Given the description of an element on the screen output the (x, y) to click on. 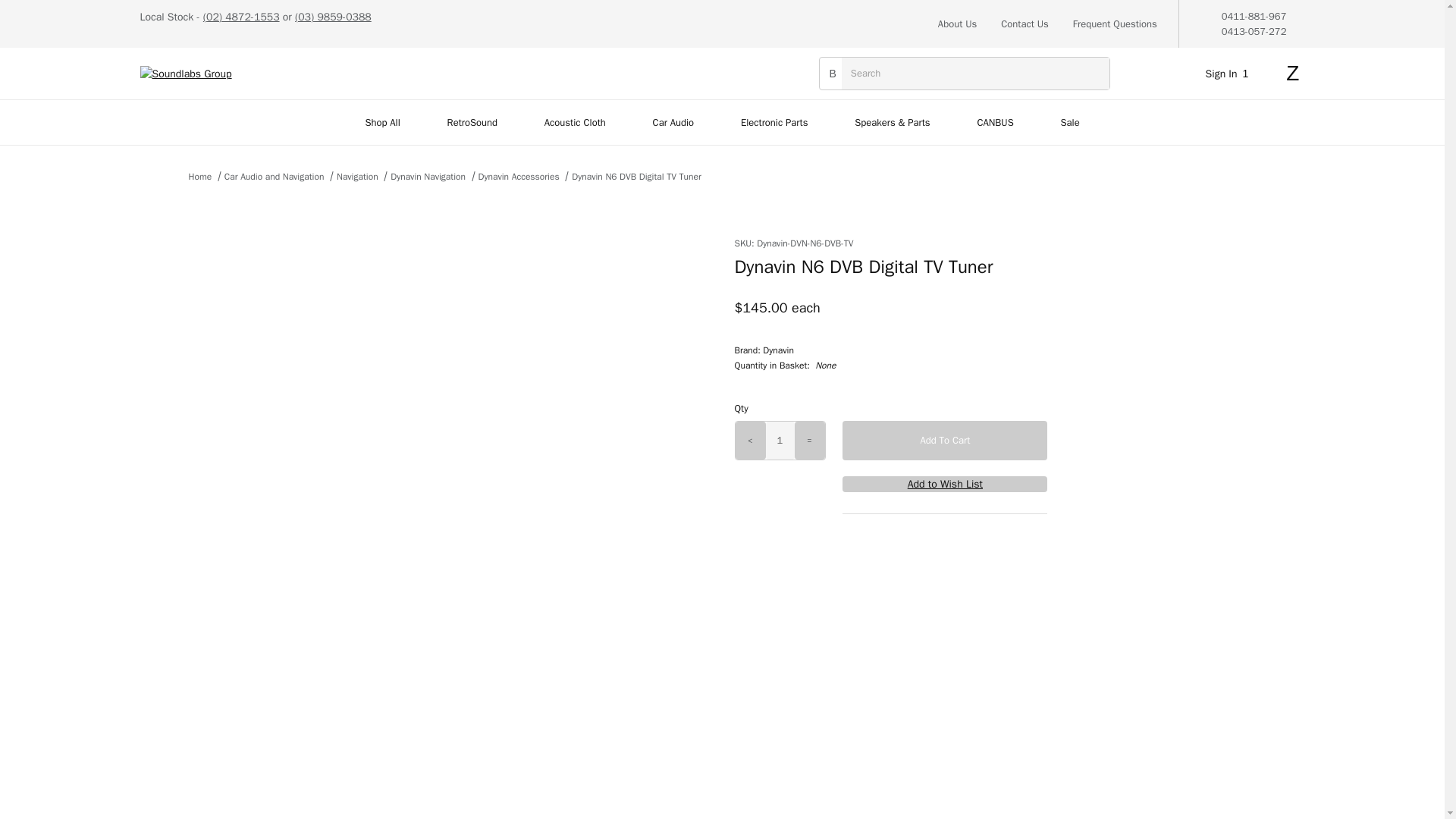
0413-057-272 (1254, 30)
RetroSound (472, 122)
Shop All (382, 122)
Add to Wish List (944, 483)
Soundlabs Group (185, 72)
About Us (956, 23)
0411-881-967 (1254, 15)
Add To Cart (944, 439)
Frequent Questions (1115, 23)
Contact Us (1024, 23)
